Given the description of an element on the screen output the (x, y) to click on. 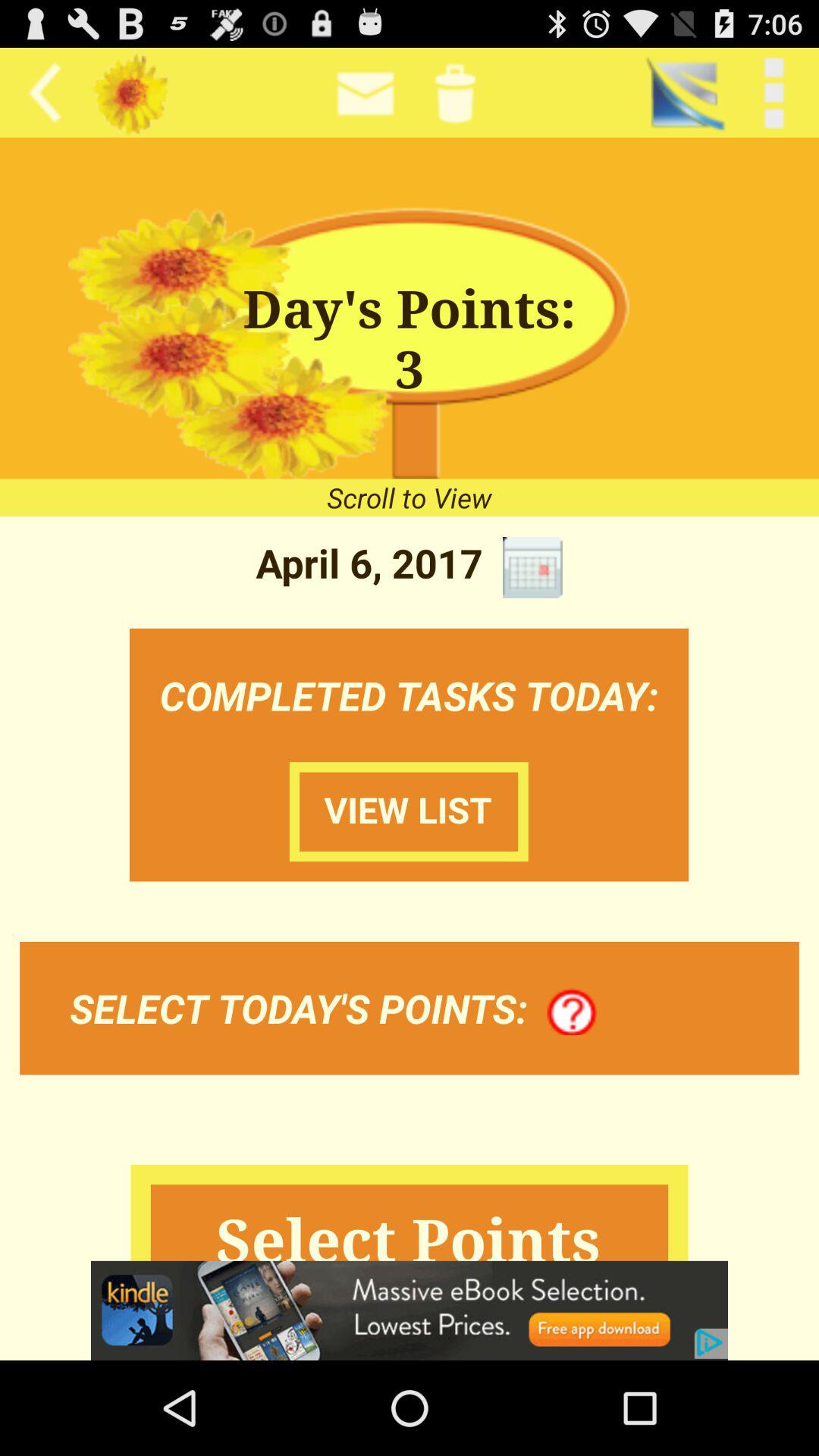
choose icon next to the april 6, 2017 icon (532, 567)
